Given the description of an element on the screen output the (x, y) to click on. 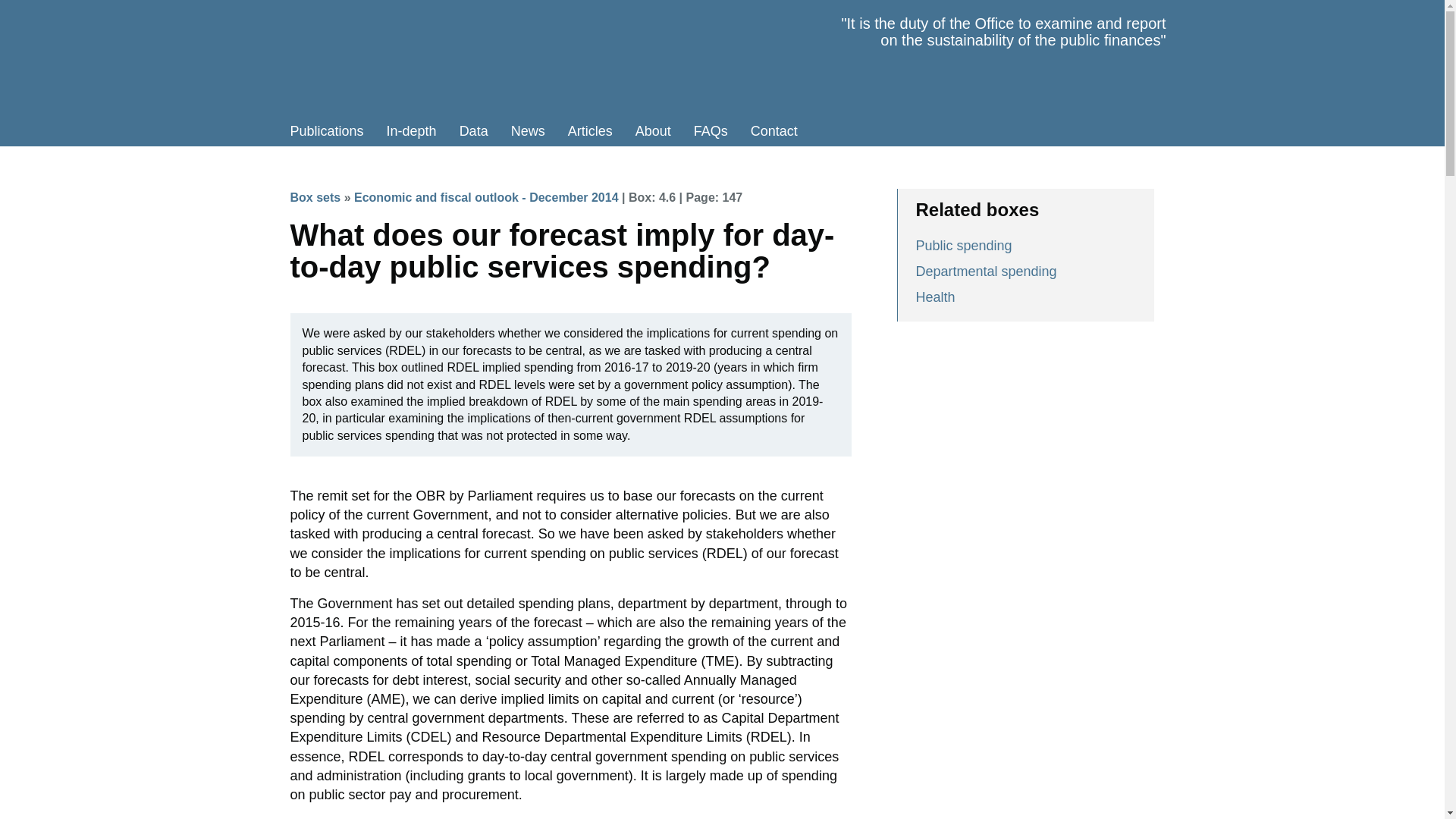
Publications (327, 131)
Articles (590, 131)
About (653, 131)
Contact (774, 131)
Box sets (314, 196)
Search site (820, 131)
Data (473, 131)
Economic and fiscal outlook - December 2014 (485, 196)
In-depth (411, 131)
FAQs (710, 131)
News (527, 131)
